Given the description of an element on the screen output the (x, y) to click on. 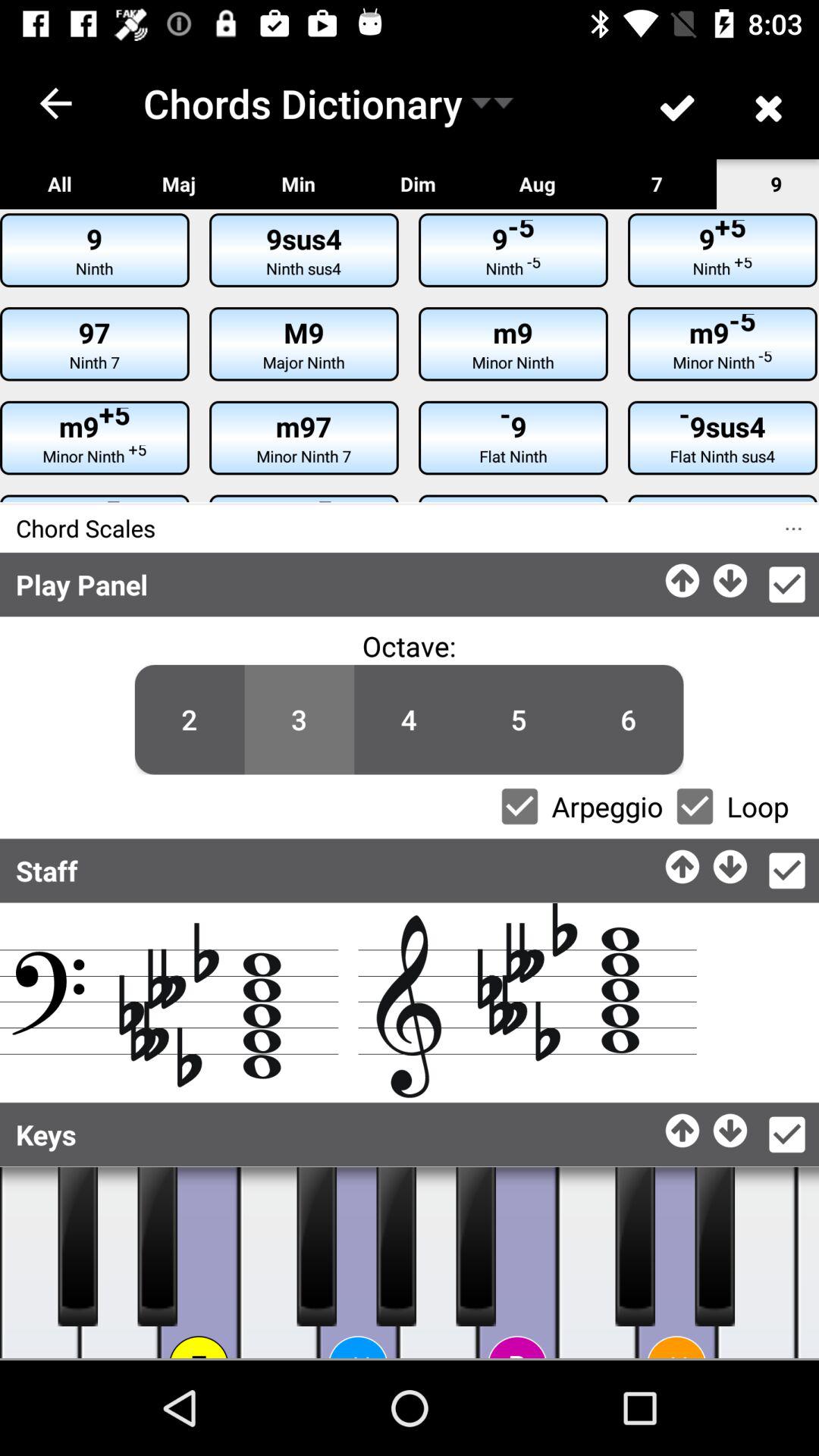
play key sound (517, 1262)
